Given the description of an element on the screen output the (x, y) to click on. 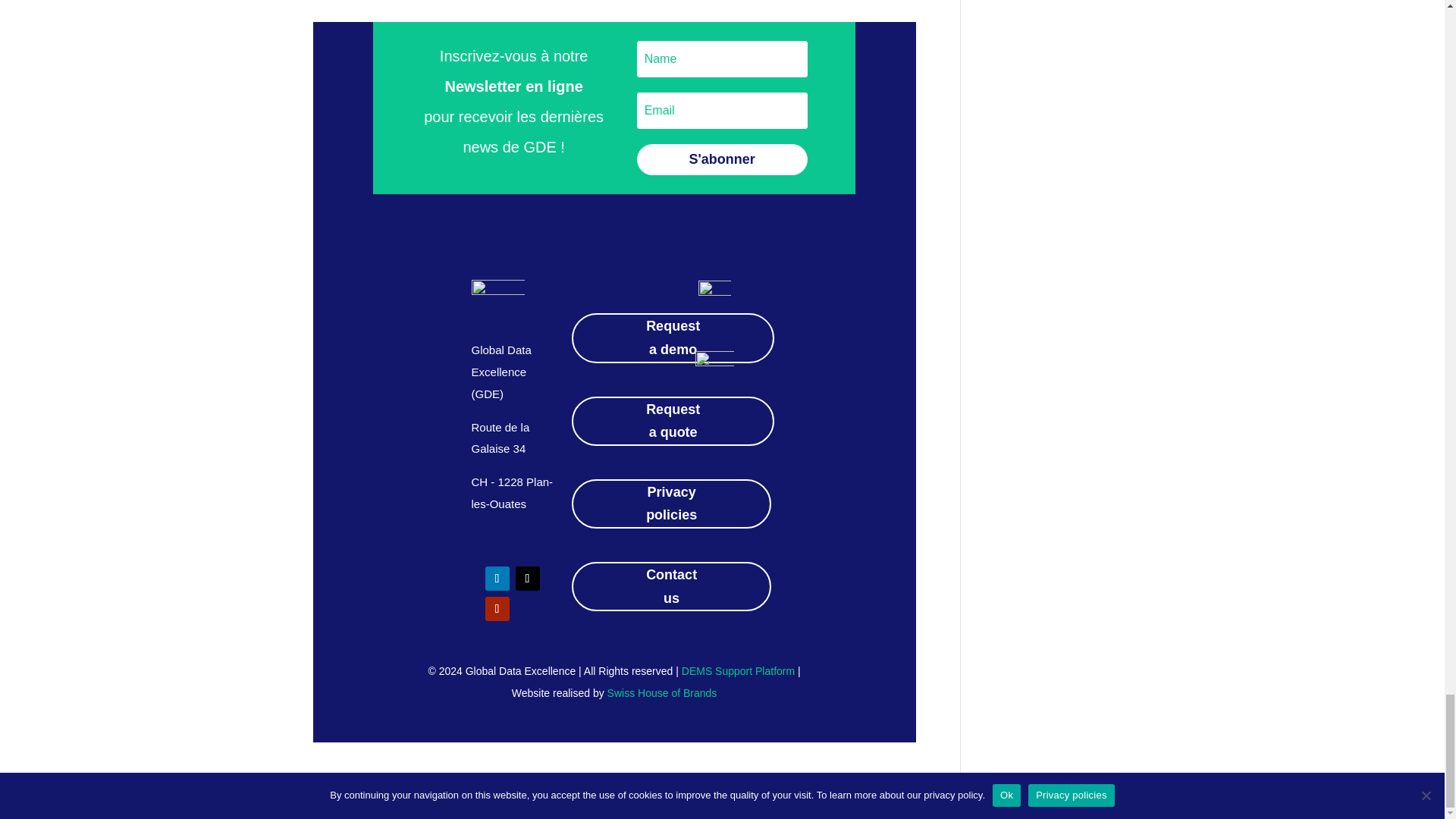
Follow on X (527, 578)
Follow on LinkedIn (496, 578)
Follow on Youtube (496, 608)
